Given the description of an element on the screen output the (x, y) to click on. 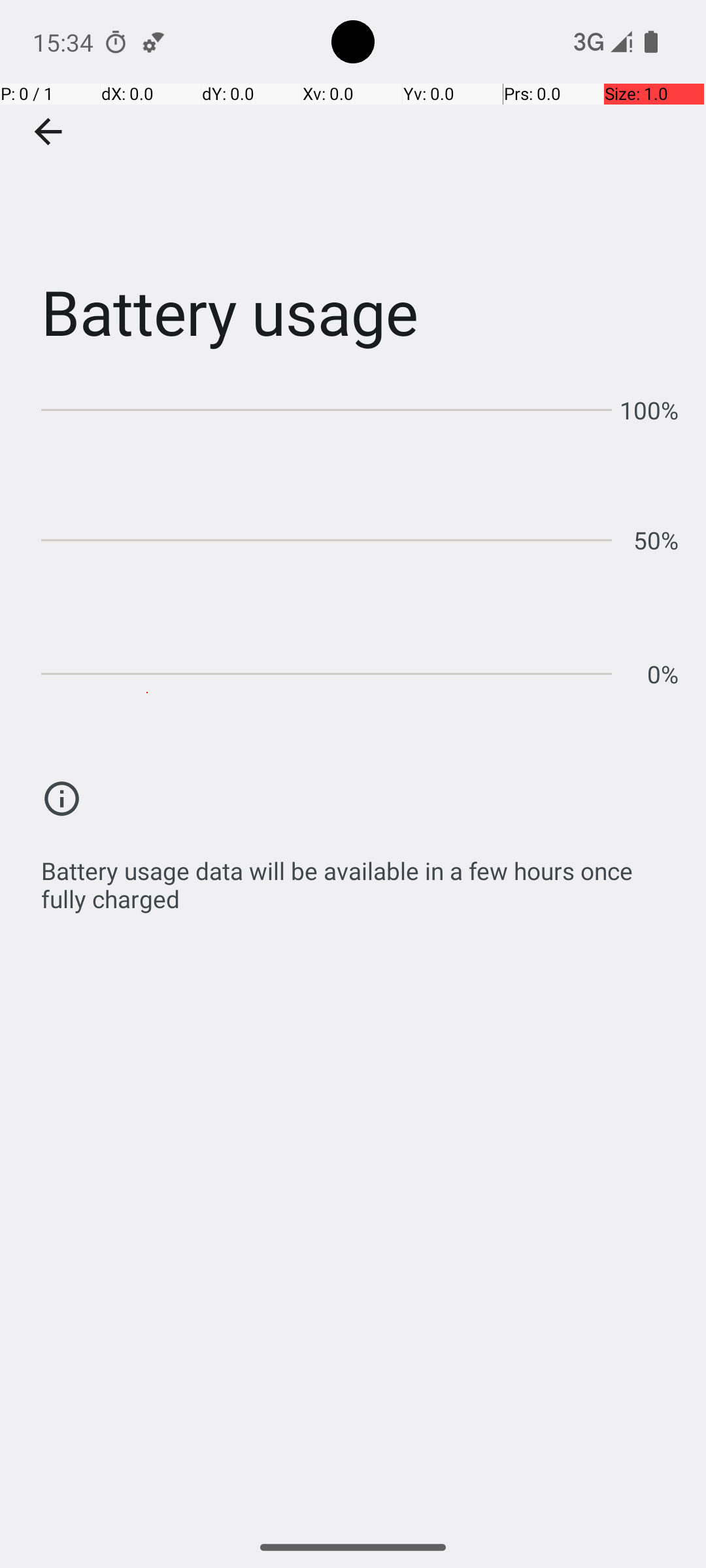
Hourly battery usage chart Element type: android.widget.ImageView (359, 536)
Battery usage data will be available in a few hours once fully charged Element type: android.widget.TextView (359, 877)
